Given the description of an element on the screen output the (x, y) to click on. 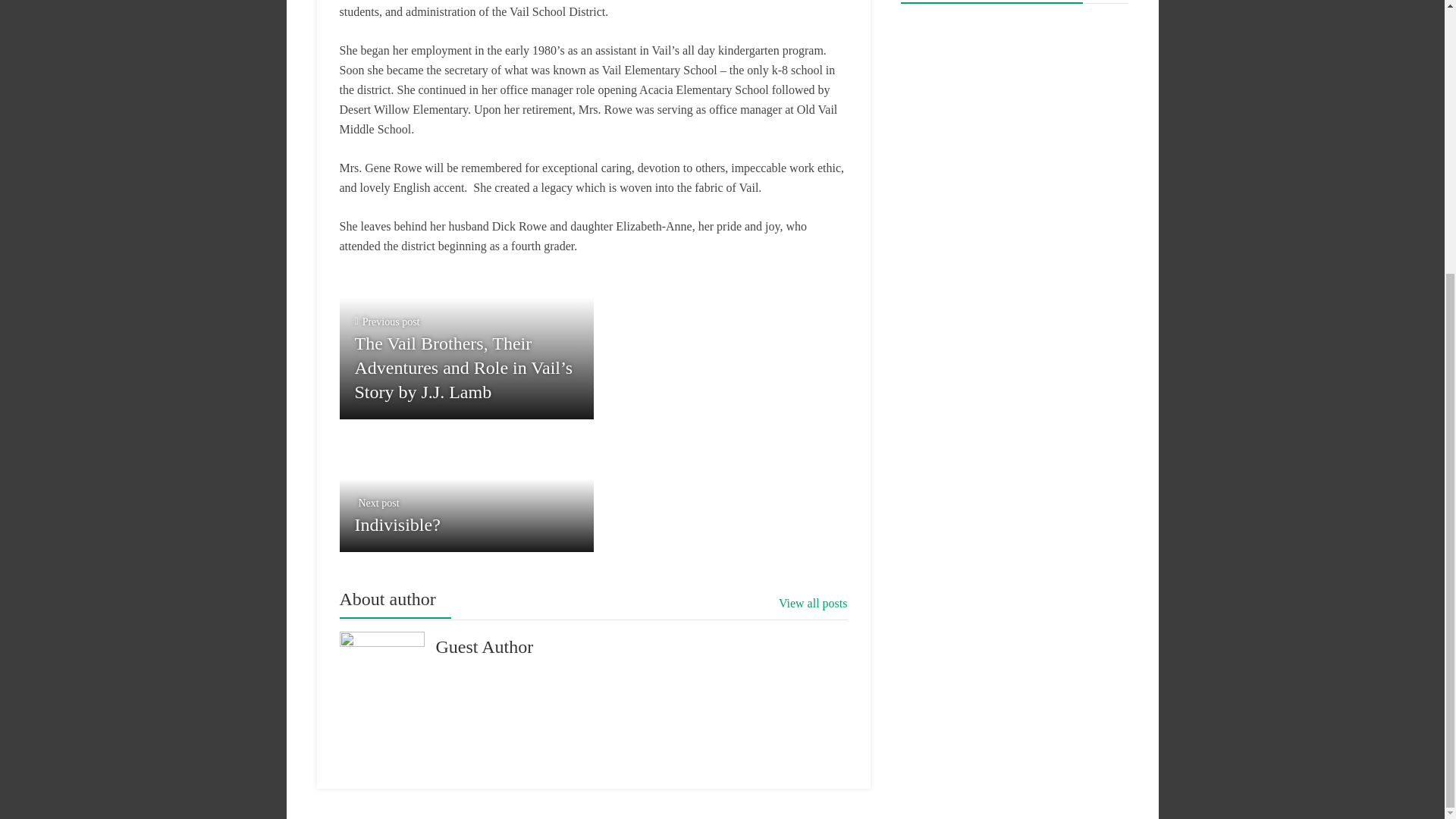
View all posts (466, 485)
